Given the description of an element on the screen output the (x, y) to click on. 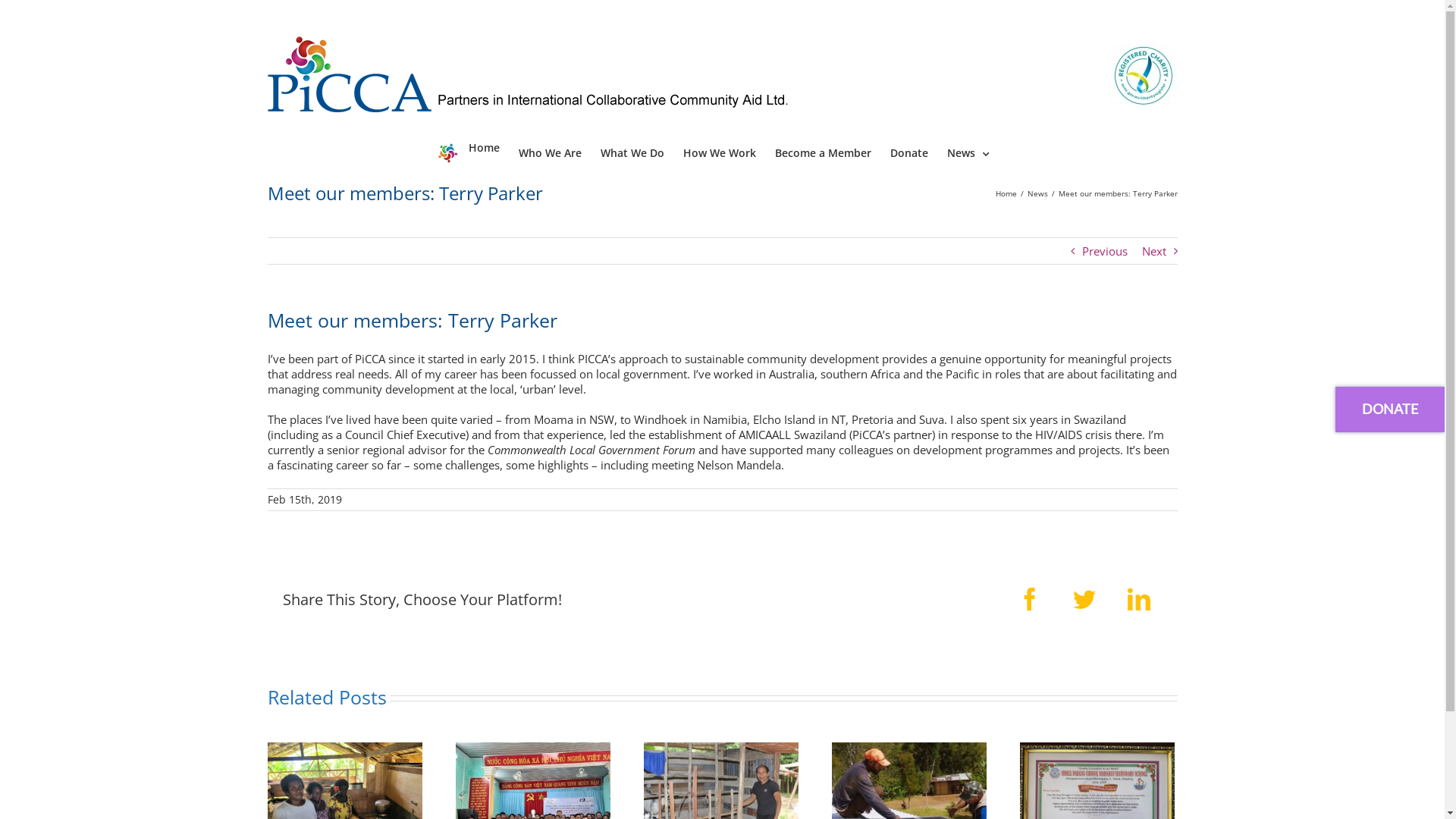
DONATE Element type: text (1389, 410)
  Home Element type: text (467, 151)
What We Do Element type: text (632, 151)
How We Work Element type: text (719, 151)
Next Element type: text (1154, 250)
Become a Member Element type: text (823, 151)
Home Element type: text (1005, 193)
Donate Element type: text (909, 151)
LinkedIn Element type: text (1137, 598)
Who We Are Element type: text (549, 151)
Previous Element type: text (1103, 250)
Twitter Element type: text (1083, 598)
News Element type: text (1036, 193)
Facebook Element type: text (1028, 598)
News Element type: text (967, 151)
